Given the description of an element on the screen output the (x, y) to click on. 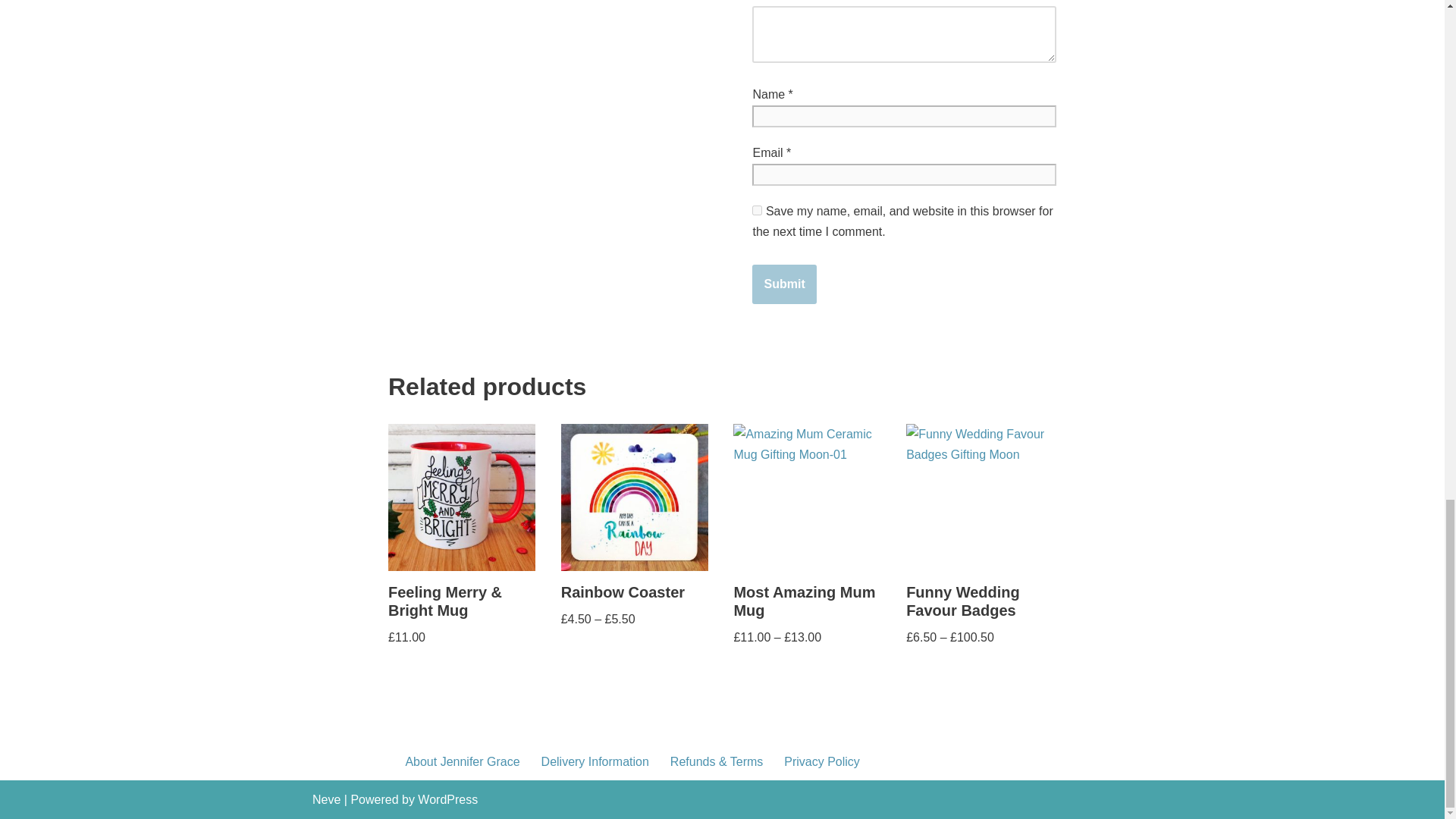
yes (756, 210)
Submit (783, 283)
